Given the description of an element on the screen output the (x, y) to click on. 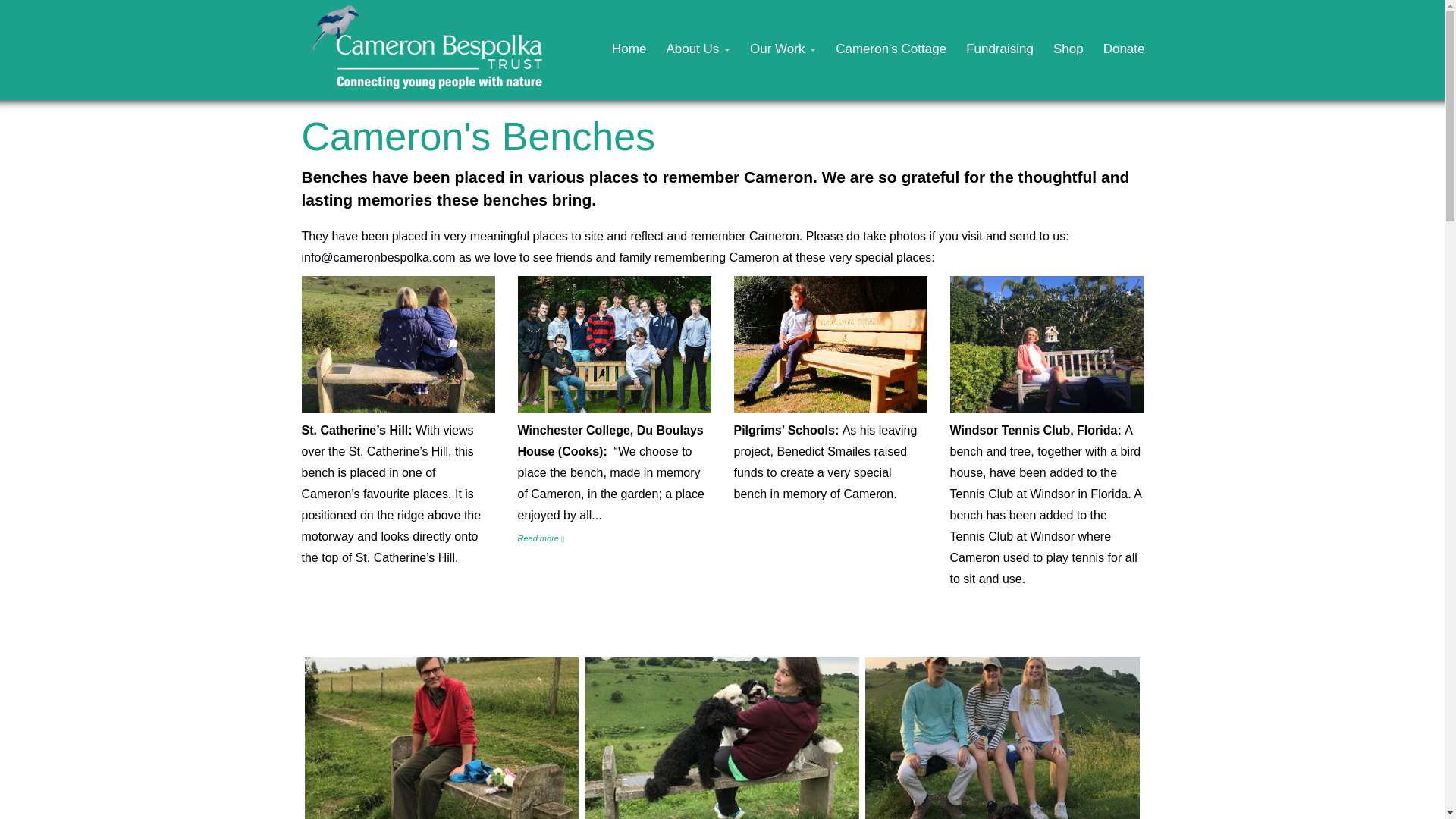
Shop (1068, 48)
Read more (540, 537)
Donate (1123, 48)
Cameron's Cottage (890, 48)
Fundraising (999, 48)
Home (628, 48)
Our Work (782, 48)
About Us (698, 48)
